Given the description of an element on the screen output the (x, y) to click on. 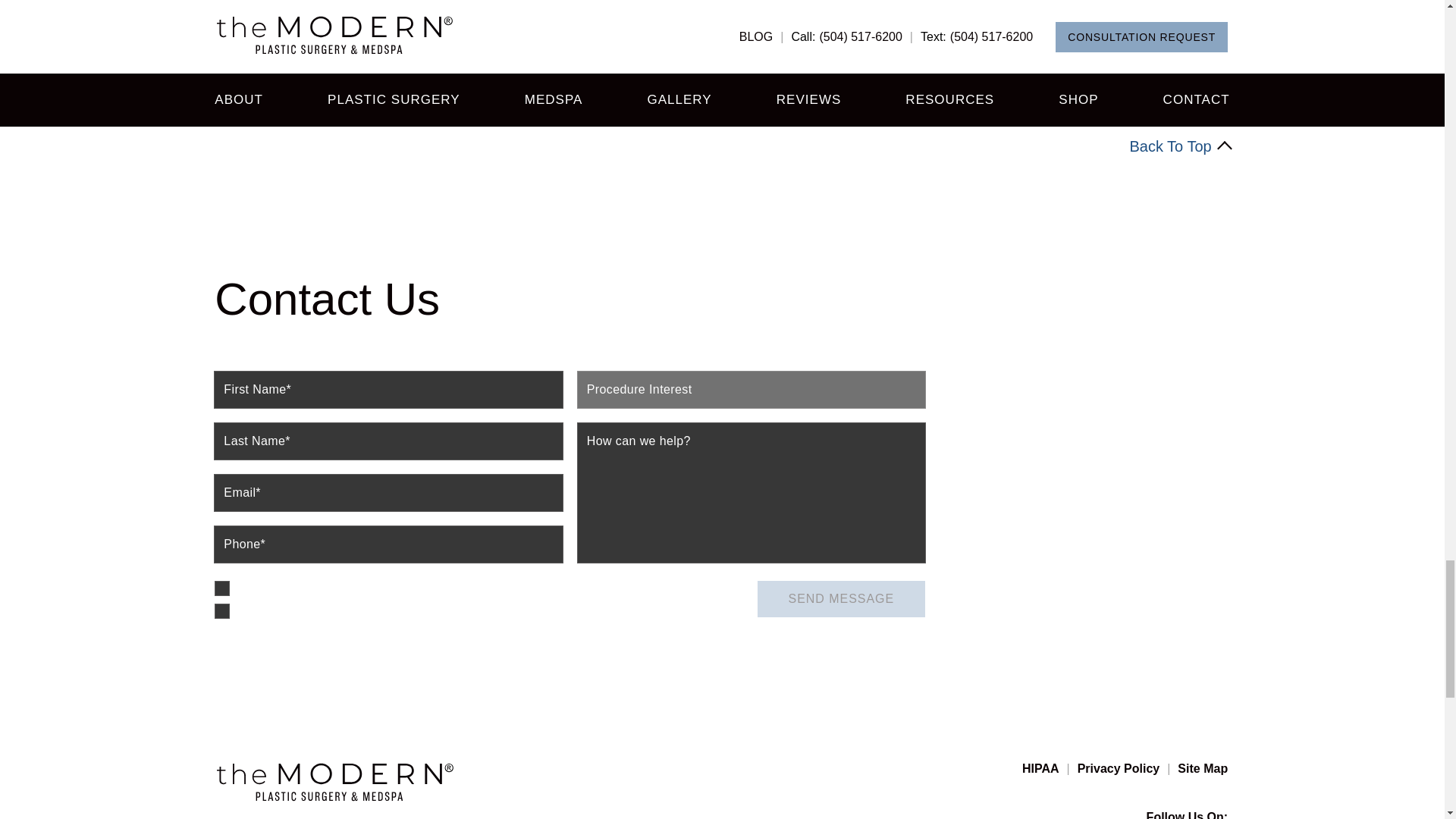
checked (222, 588)
Post Comment (283, 75)
checked (222, 611)
